Given the description of an element on the screen output the (x, y) to click on. 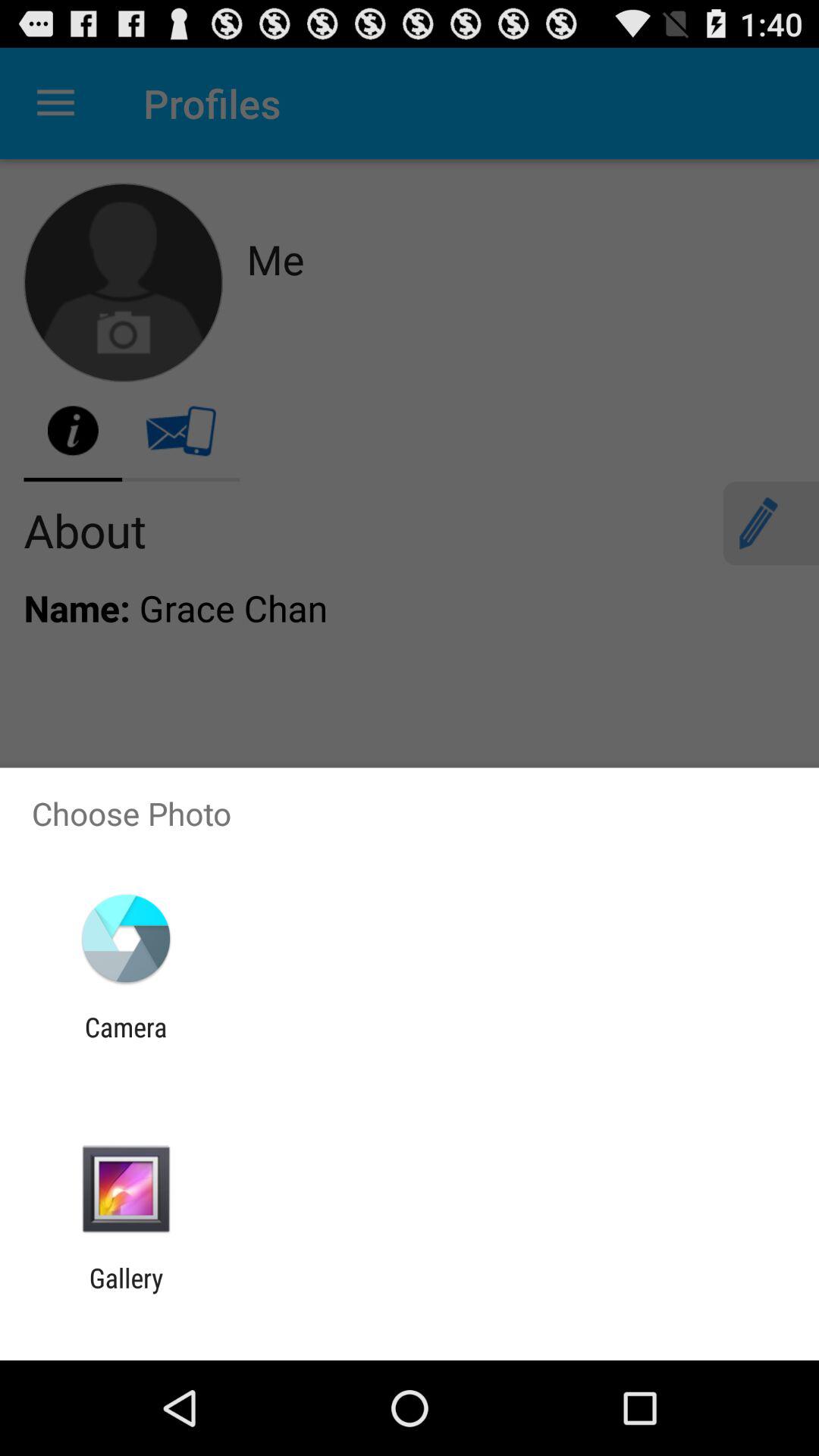
press gallery item (126, 1293)
